Given the description of an element on the screen output the (x, y) to click on. 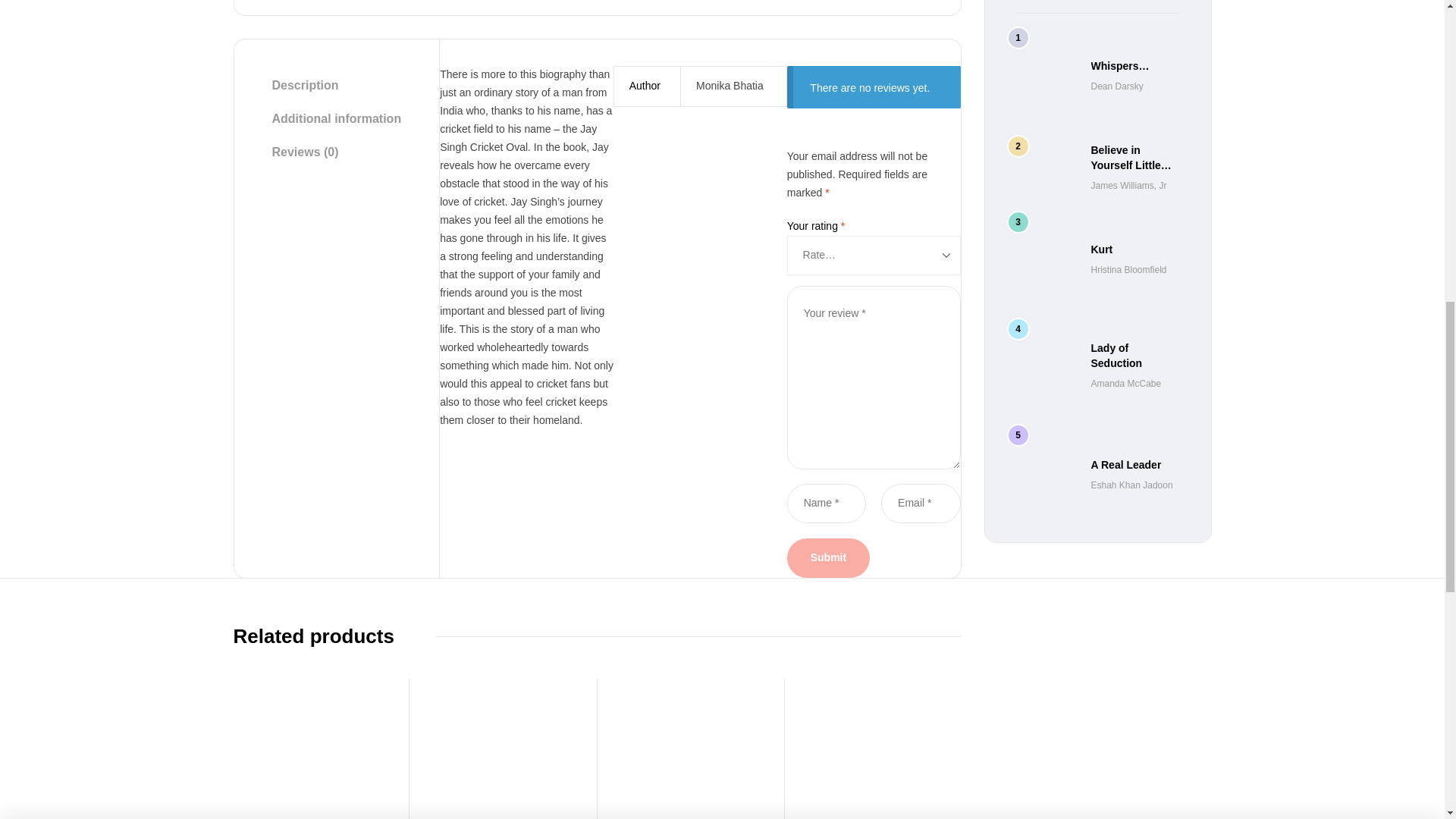
Submit (828, 558)
